Given the description of an element on the screen output the (x, y) to click on. 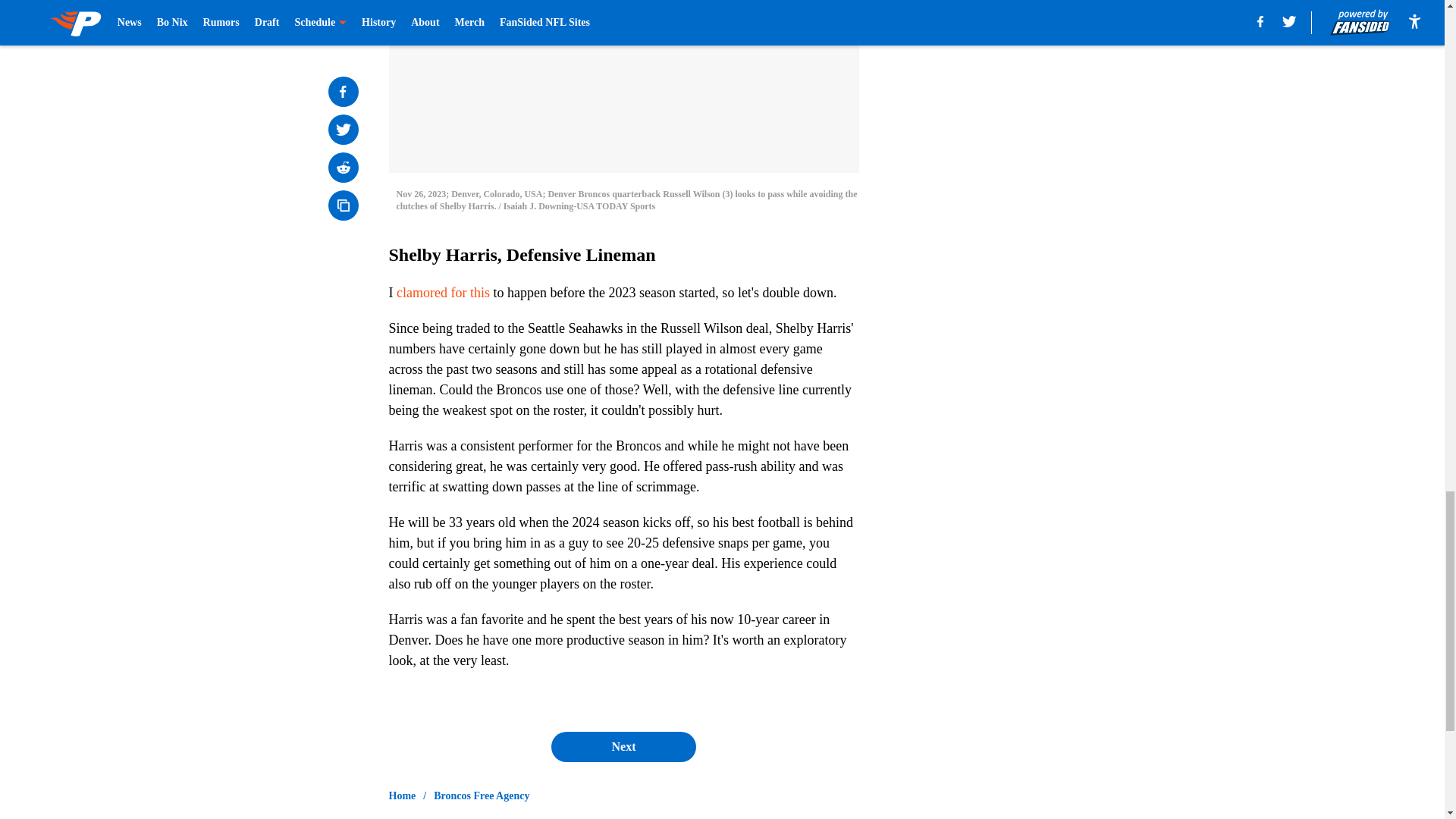
Home (401, 795)
clamored for this (442, 292)
Broncos Free Agency (481, 795)
Next (622, 747)
